Given the description of an element on the screen output the (x, y) to click on. 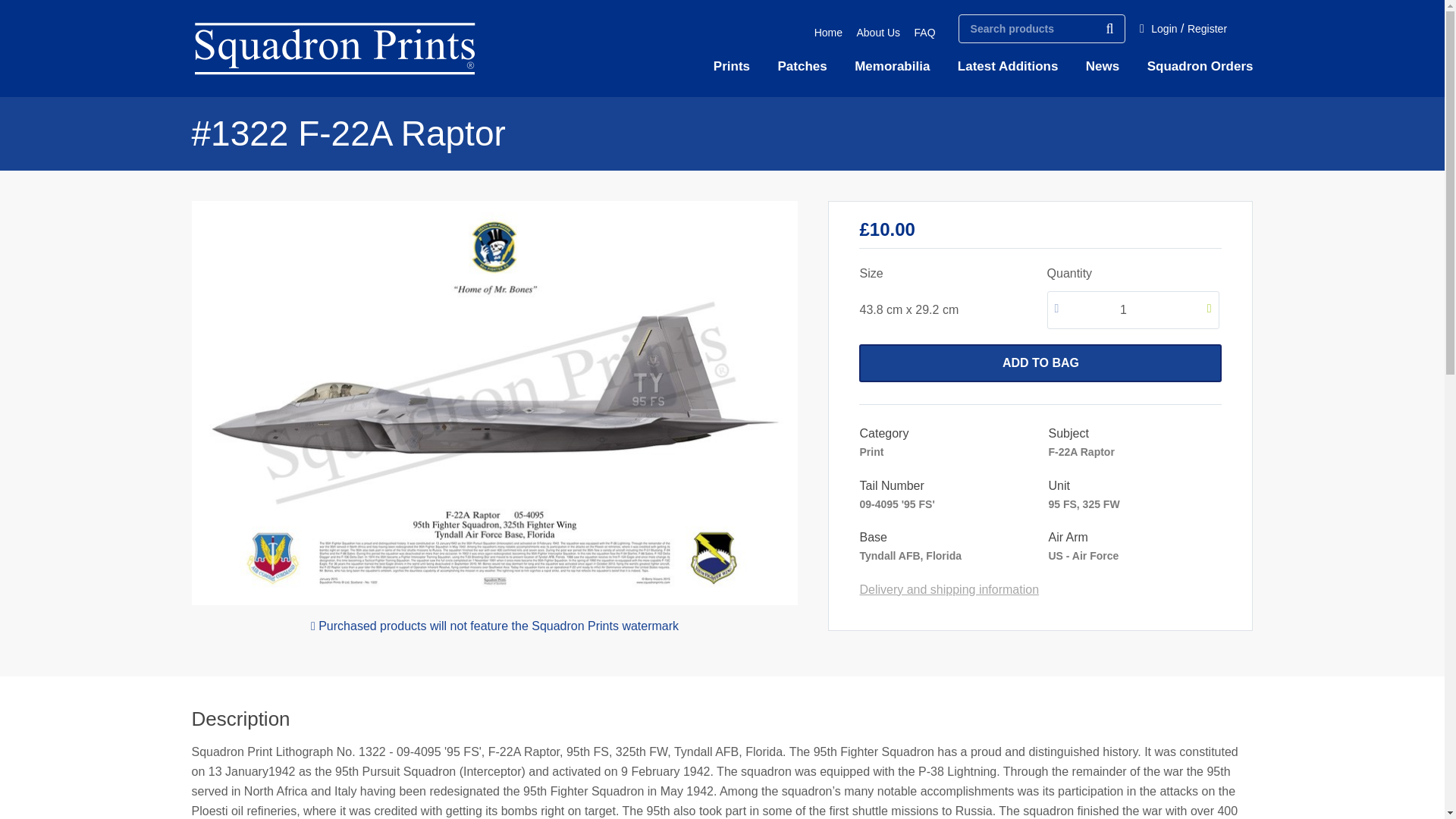
Latest Additions (1008, 66)
ADD TO BAG (1040, 362)
Login (1163, 28)
News (1102, 66)
Memorabilia (892, 66)
Register (1207, 28)
Squadron Orders (1200, 66)
Delivery and shipping information (949, 589)
1 (1133, 310)
Prints (731, 66)
About Us (877, 32)
Patches (802, 66)
